Given the description of an element on the screen output the (x, y) to click on. 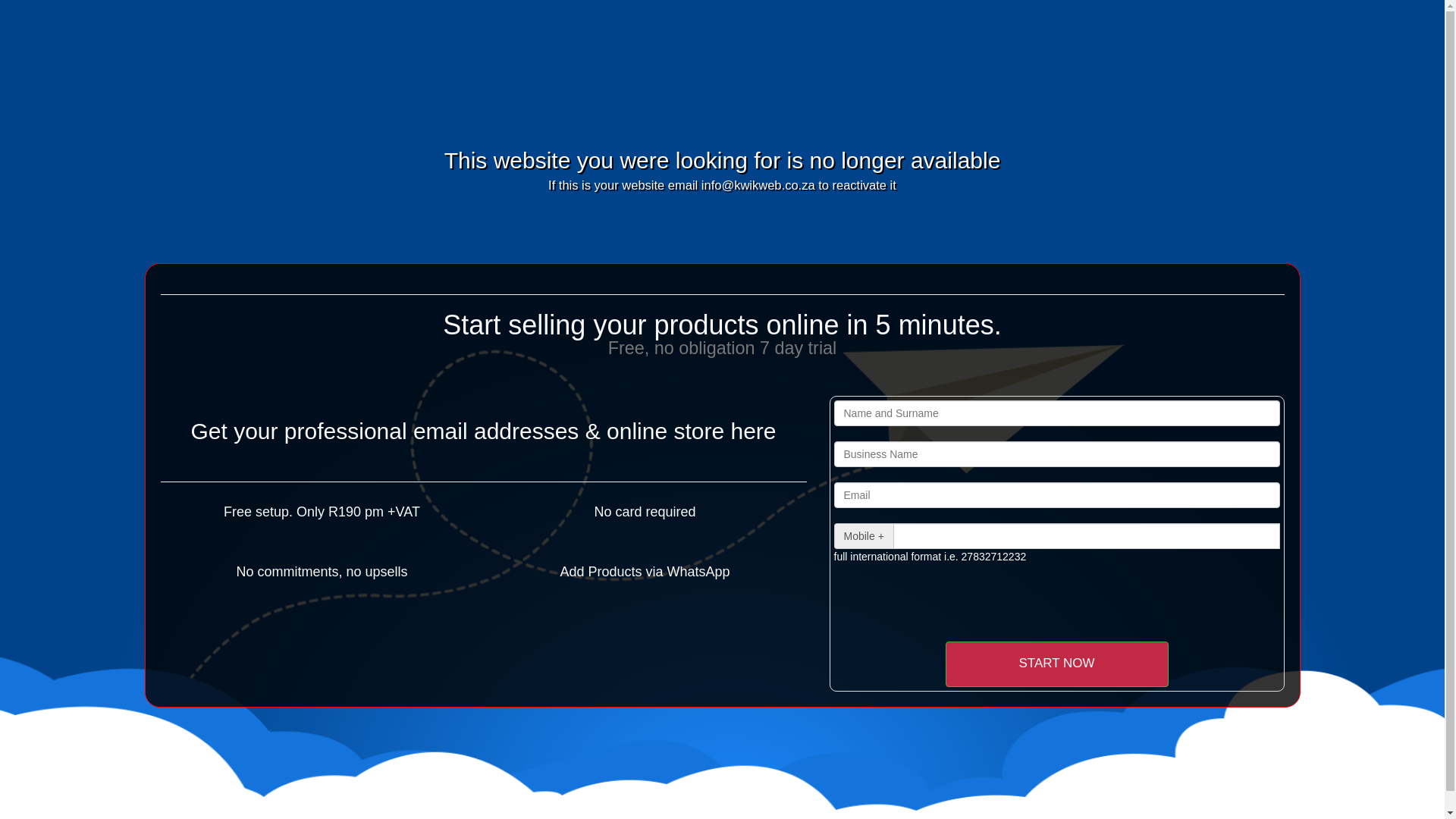
START NOW Element type: text (1055, 664)
